Given the description of an element on the screen output the (x, y) to click on. 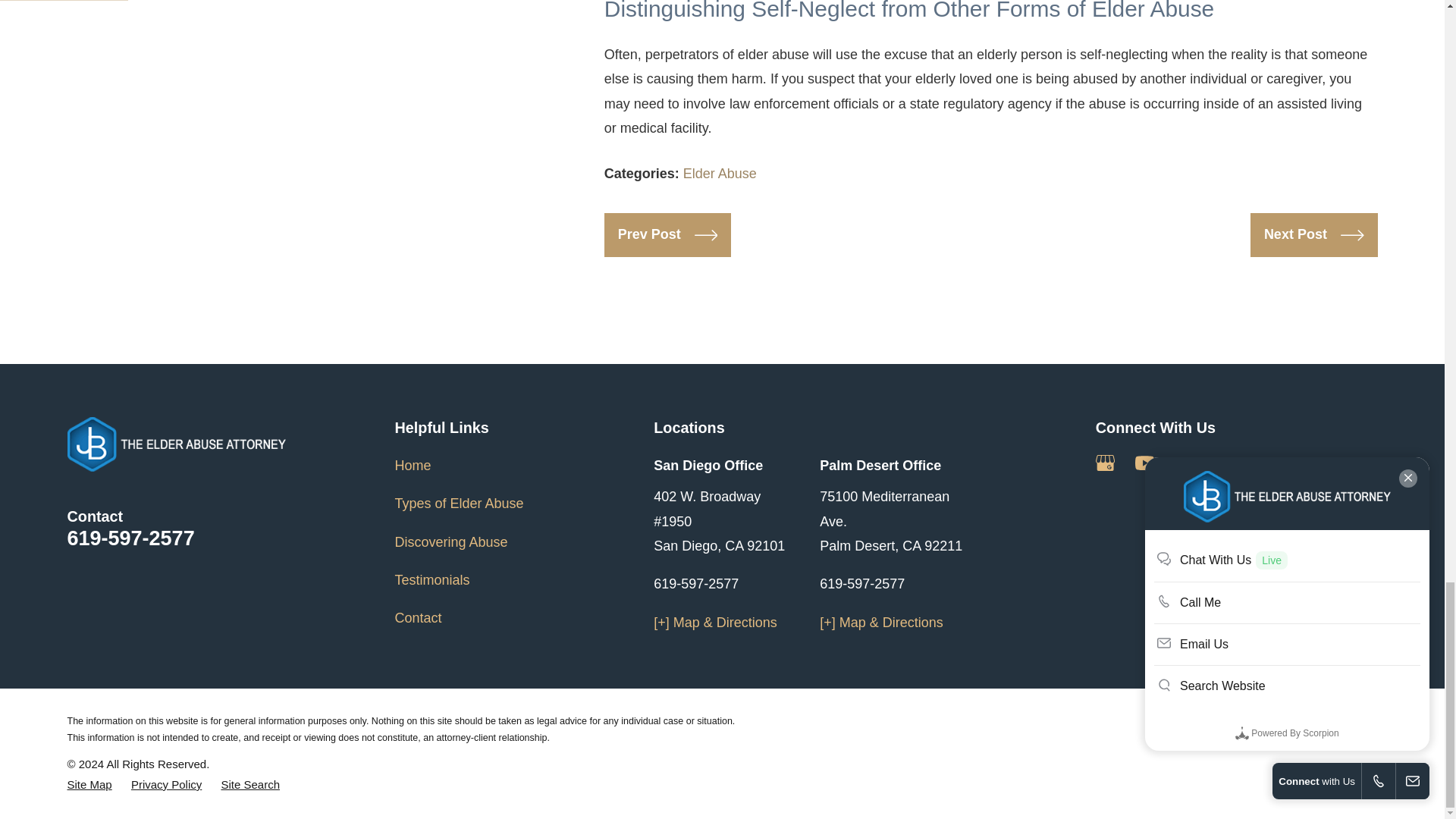
YouTube (1144, 462)
Home (175, 443)
Google Business Profile (1105, 462)
